Given the description of an element on the screen output the (x, y) to click on. 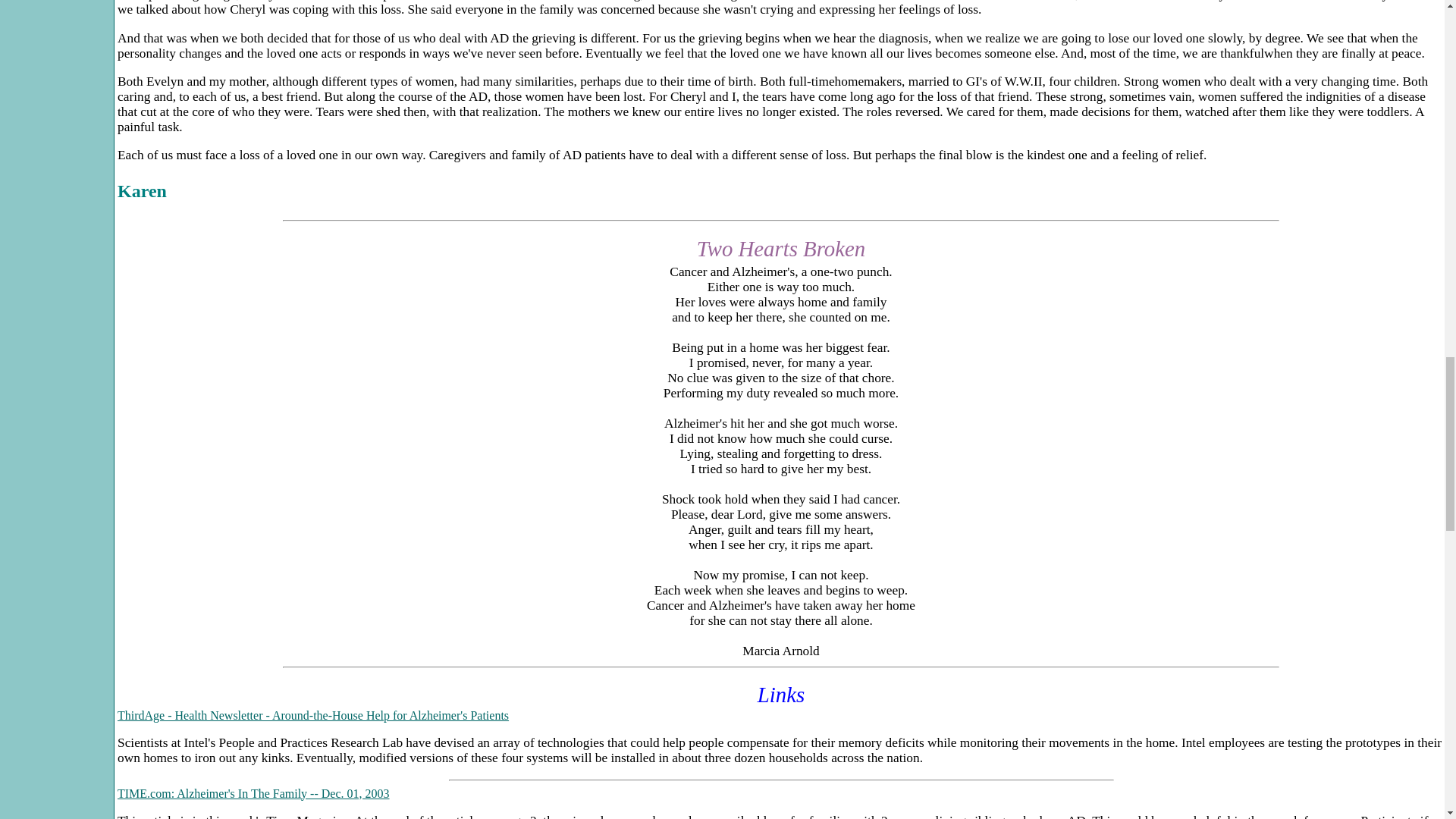
TIME.com: Alzheimer's In The Family -- Dec. 01, 2003 (253, 793)
